Given the description of an element on the screen output the (x, y) to click on. 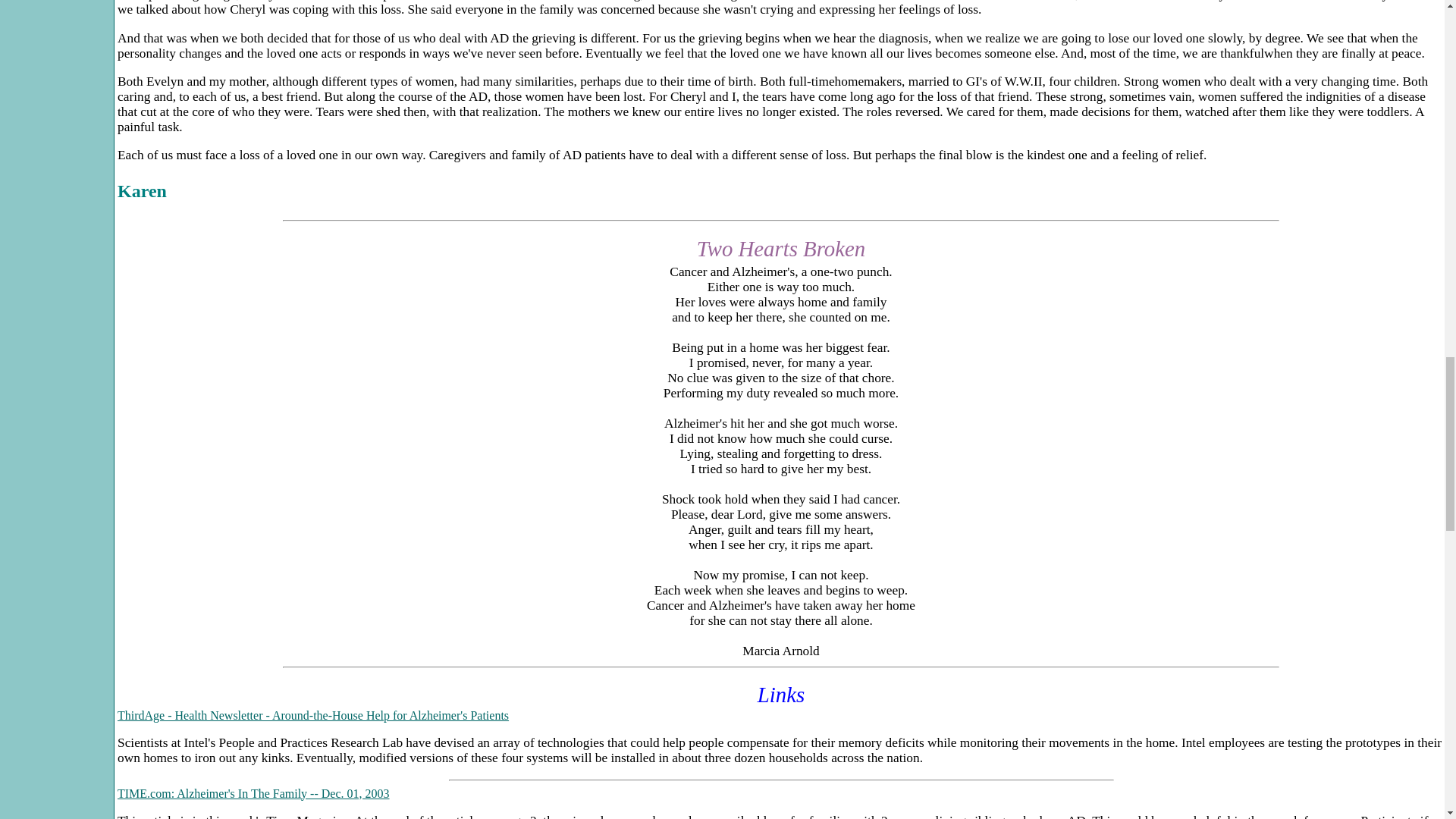
TIME.com: Alzheimer's In The Family -- Dec. 01, 2003 (253, 793)
